Given the description of an element on the screen output the (x, y) to click on. 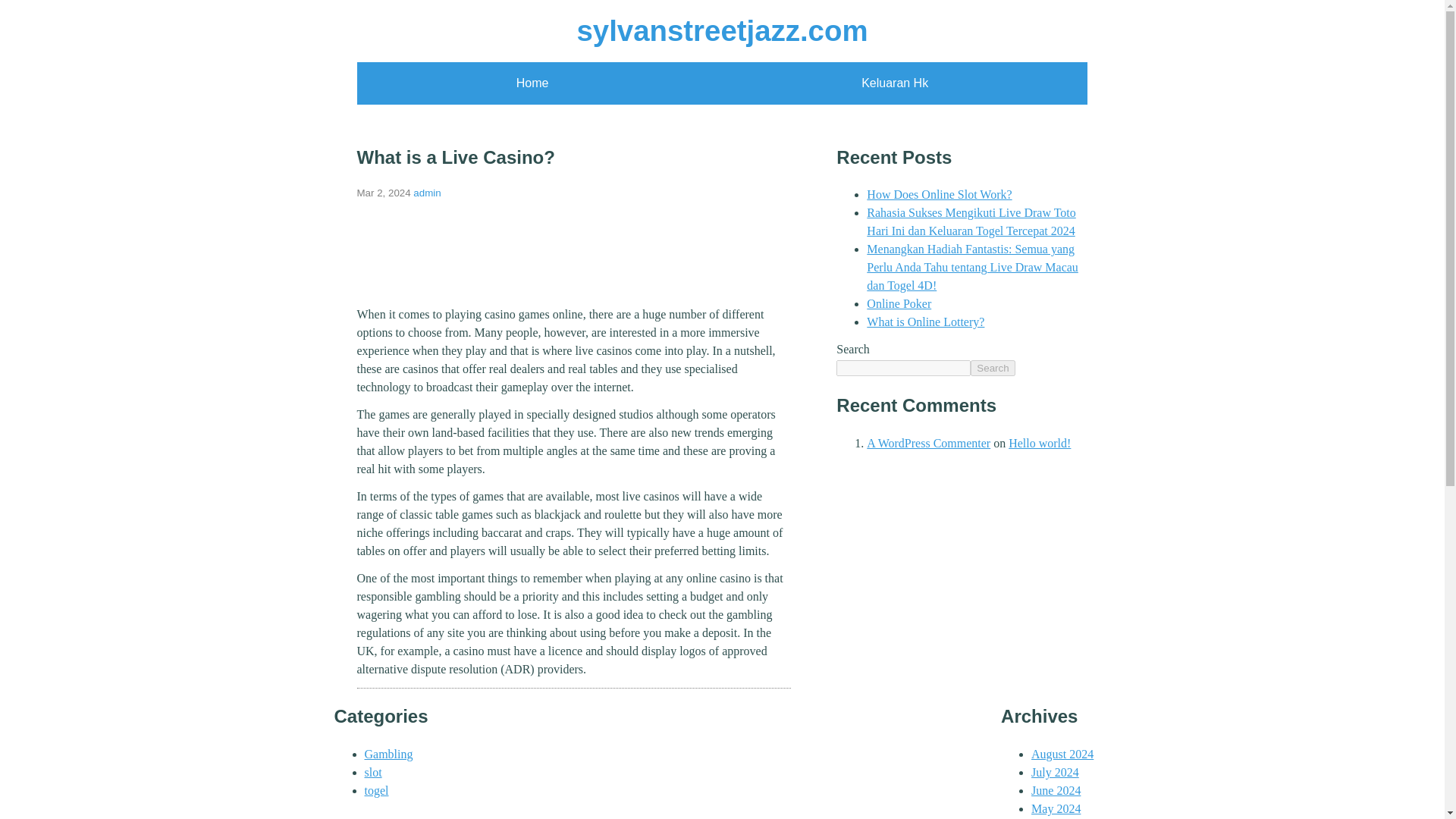
Search (992, 367)
May 2024 (1055, 808)
A WordPress Commenter (928, 442)
admin (427, 193)
Home (532, 82)
Hello world! (1039, 442)
Gambling (388, 753)
Online Poker (898, 303)
slot (372, 771)
July 2024 (1054, 771)
togel (376, 789)
What is Online Lottery? (925, 321)
August 2024 (1061, 753)
sylvanstreetjazz.com (721, 30)
